Given the description of an element on the screen output the (x, y) to click on. 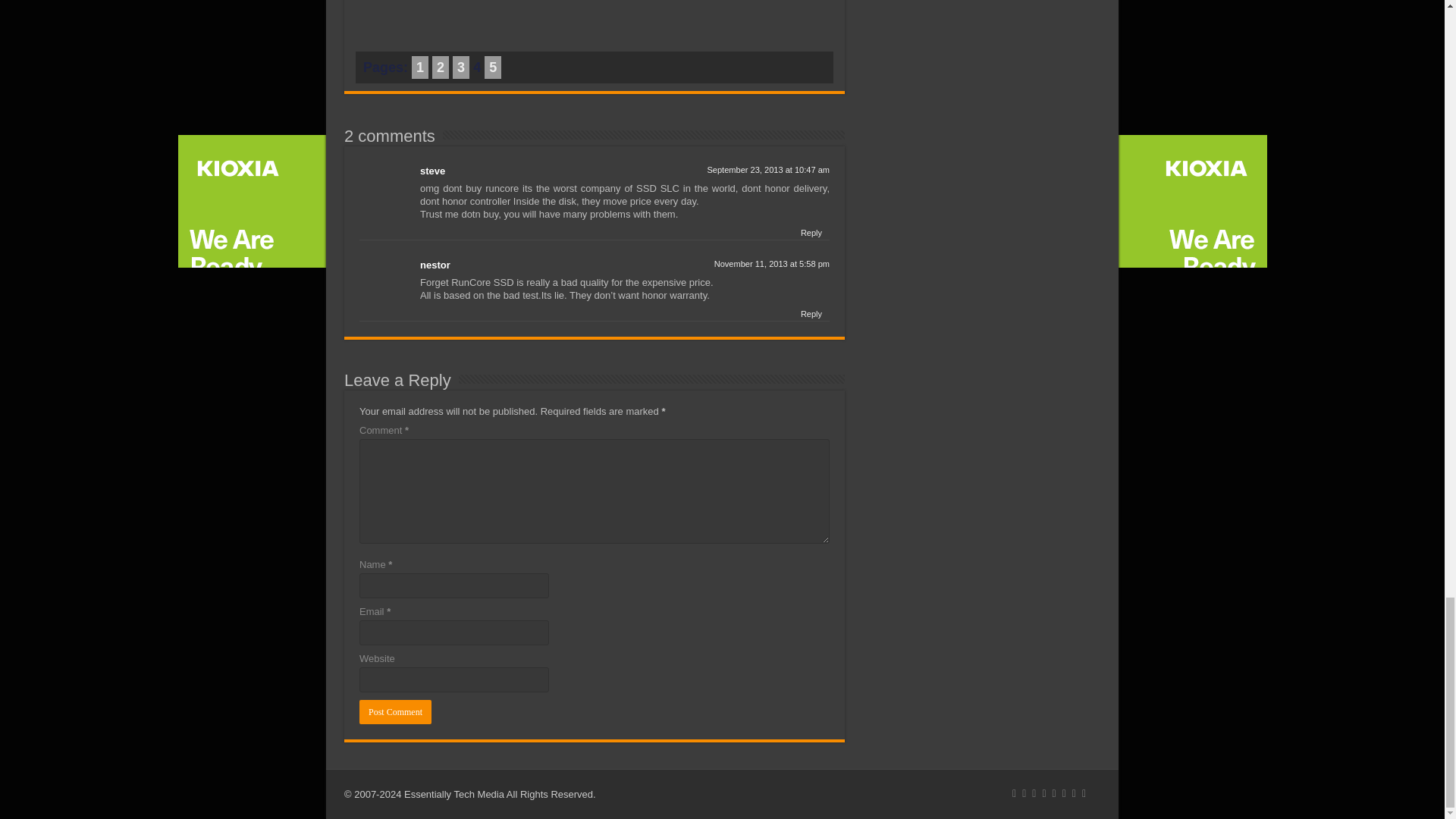
Post Comment (394, 711)
